Given the description of an element on the screen output the (x, y) to click on. 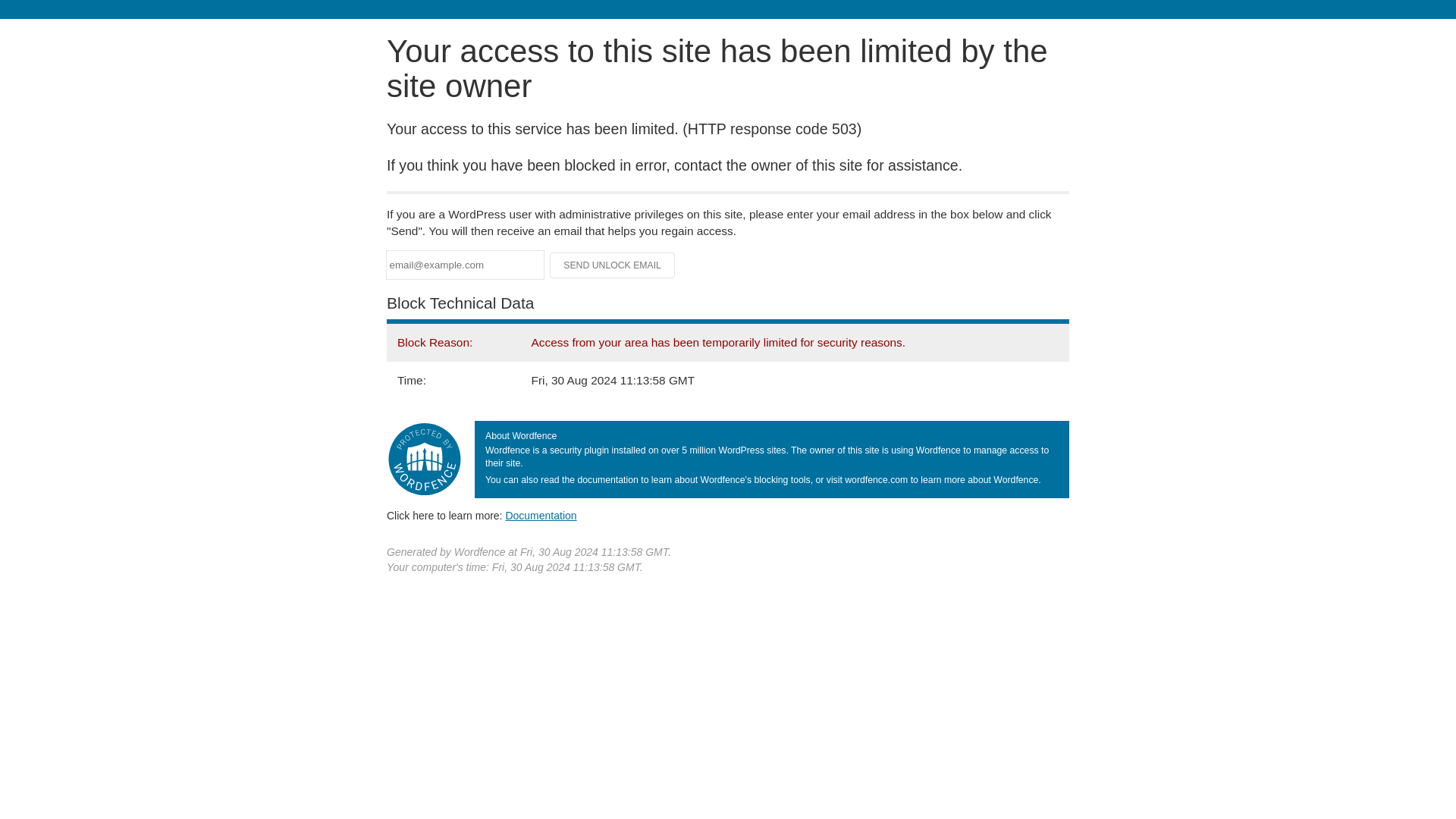
Documentation (540, 515)
Send Unlock Email (612, 265)
Send Unlock Email (612, 265)
